Given the description of an element on the screen output the (x, y) to click on. 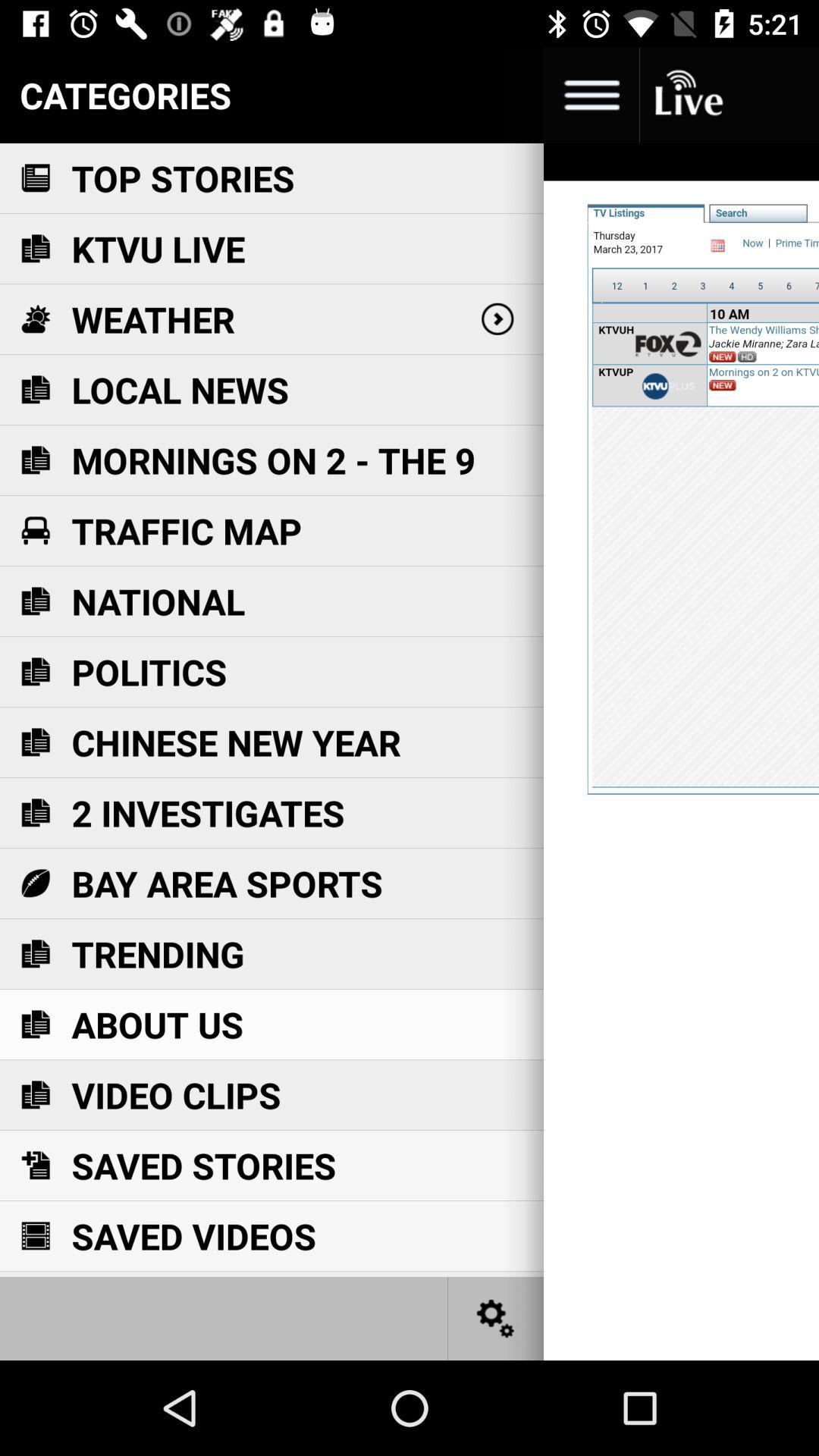
listen live (687, 95)
